Given the description of an element on the screen output the (x, y) to click on. 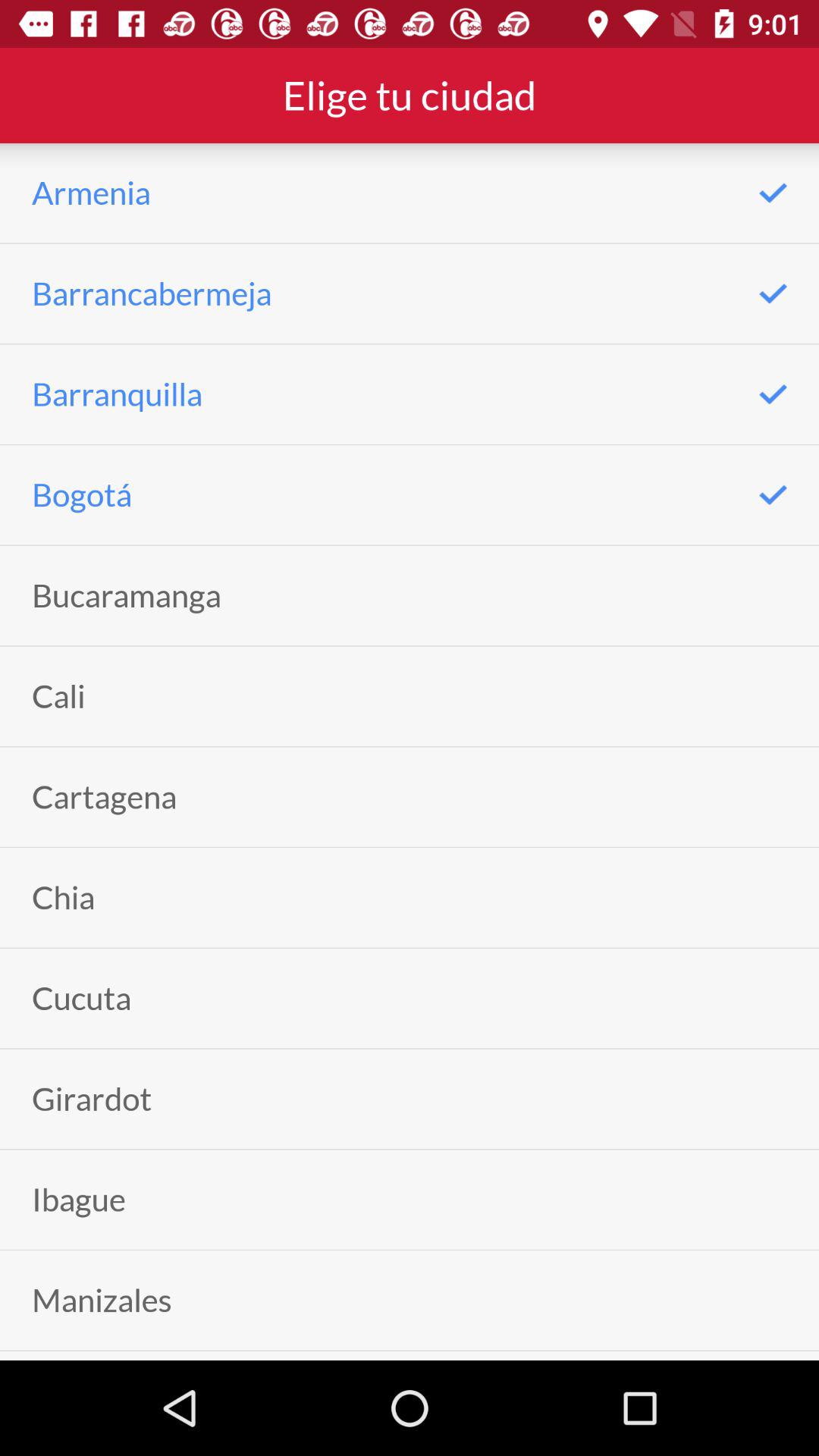
turn on the ibague item (78, 1199)
